Given the description of an element on the screen output the (x, y) to click on. 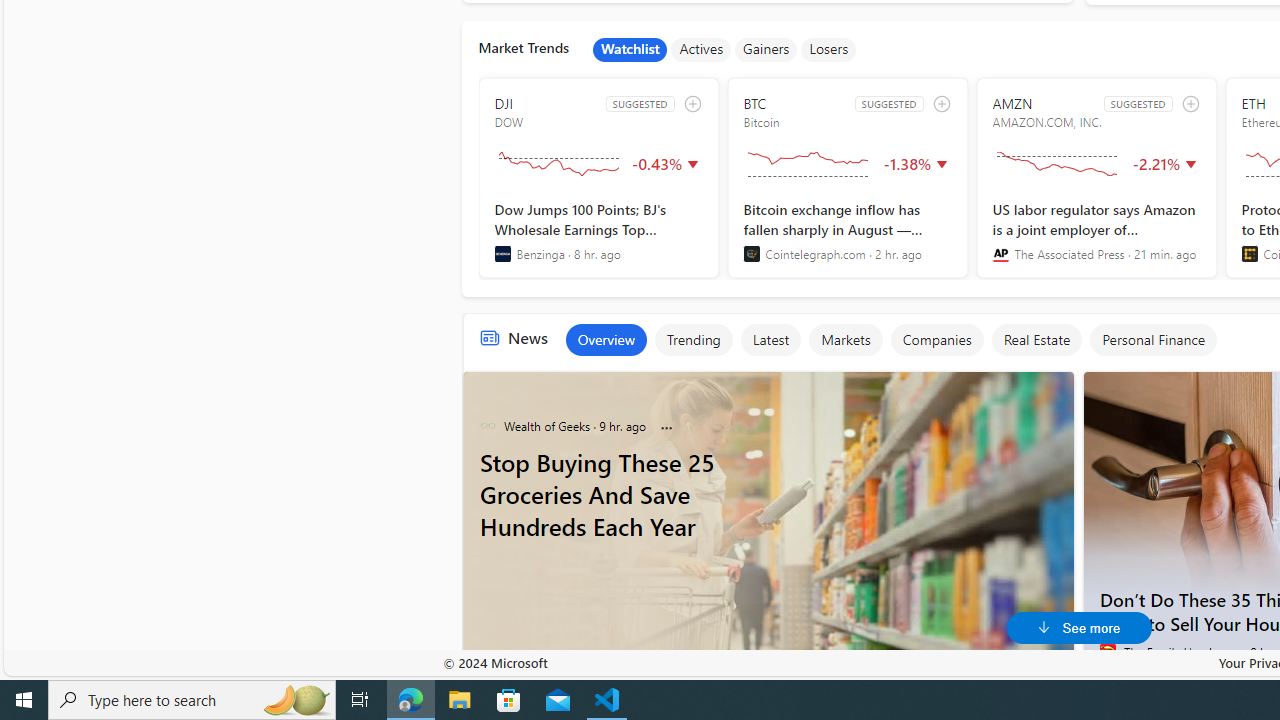
AMZN SUGGESTED AMAZON.COM, INC. (1096, 178)
Cointelegraph.com (751, 254)
The Family Handyman (1107, 651)
Trending (693, 339)
CoinDesk (1249, 254)
Losers (829, 49)
The Associated Press (1000, 254)
Dow Jumps 100 Points; BJ's Wholesale Earnings Top Estimates (598, 231)
Latest (770, 339)
